Given the description of an element on the screen output the (x, y) to click on. 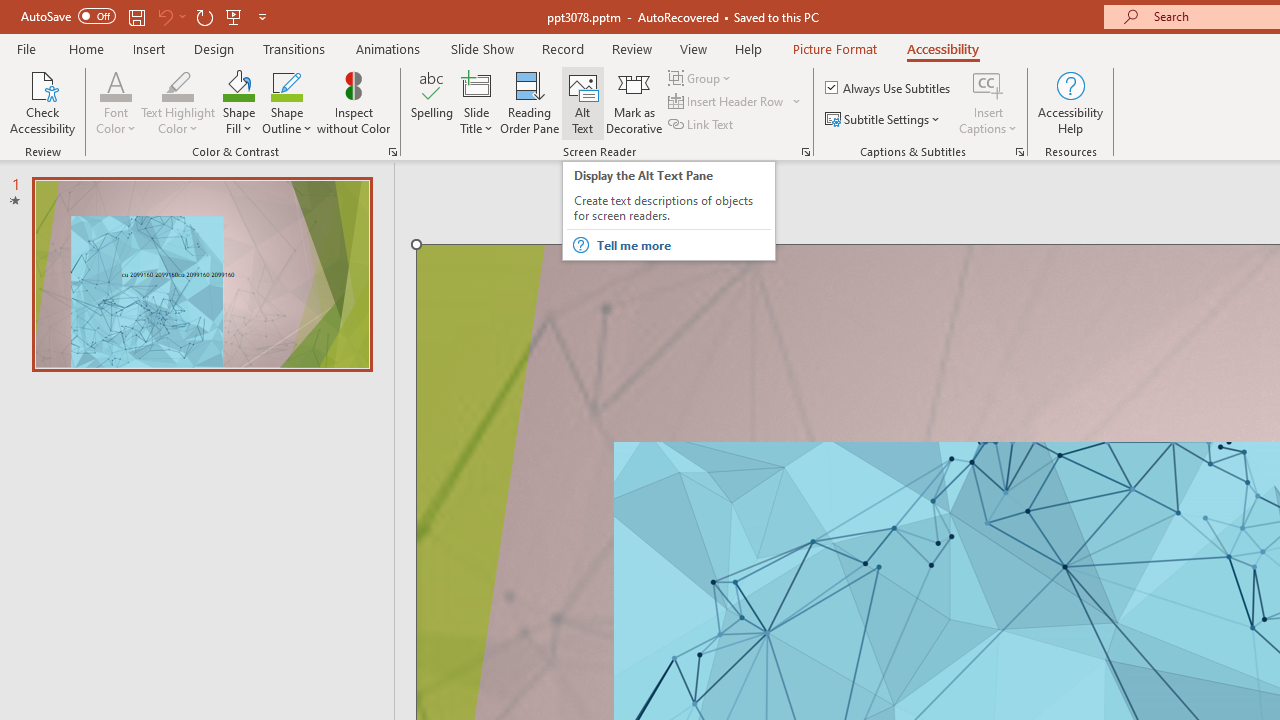
Captions & Subtitles (1019, 151)
Accessibility Help (1070, 102)
Mark as Decorative (634, 102)
Color & Contrast (392, 151)
